Given the description of an element on the screen output the (x, y) to click on. 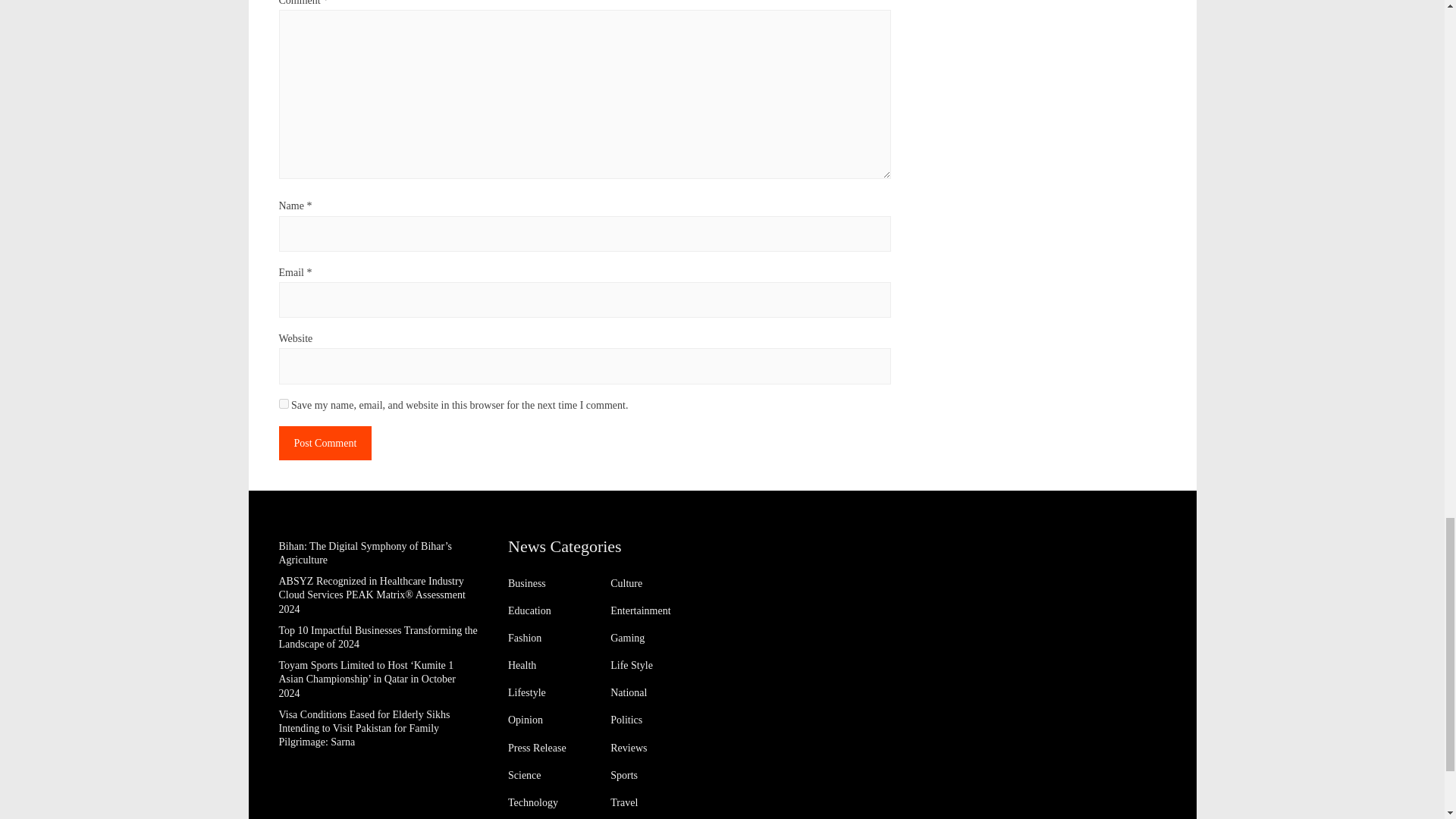
yes (283, 403)
Post Comment (325, 442)
Post Comment (325, 442)
